Given the description of an element on the screen output the (x, y) to click on. 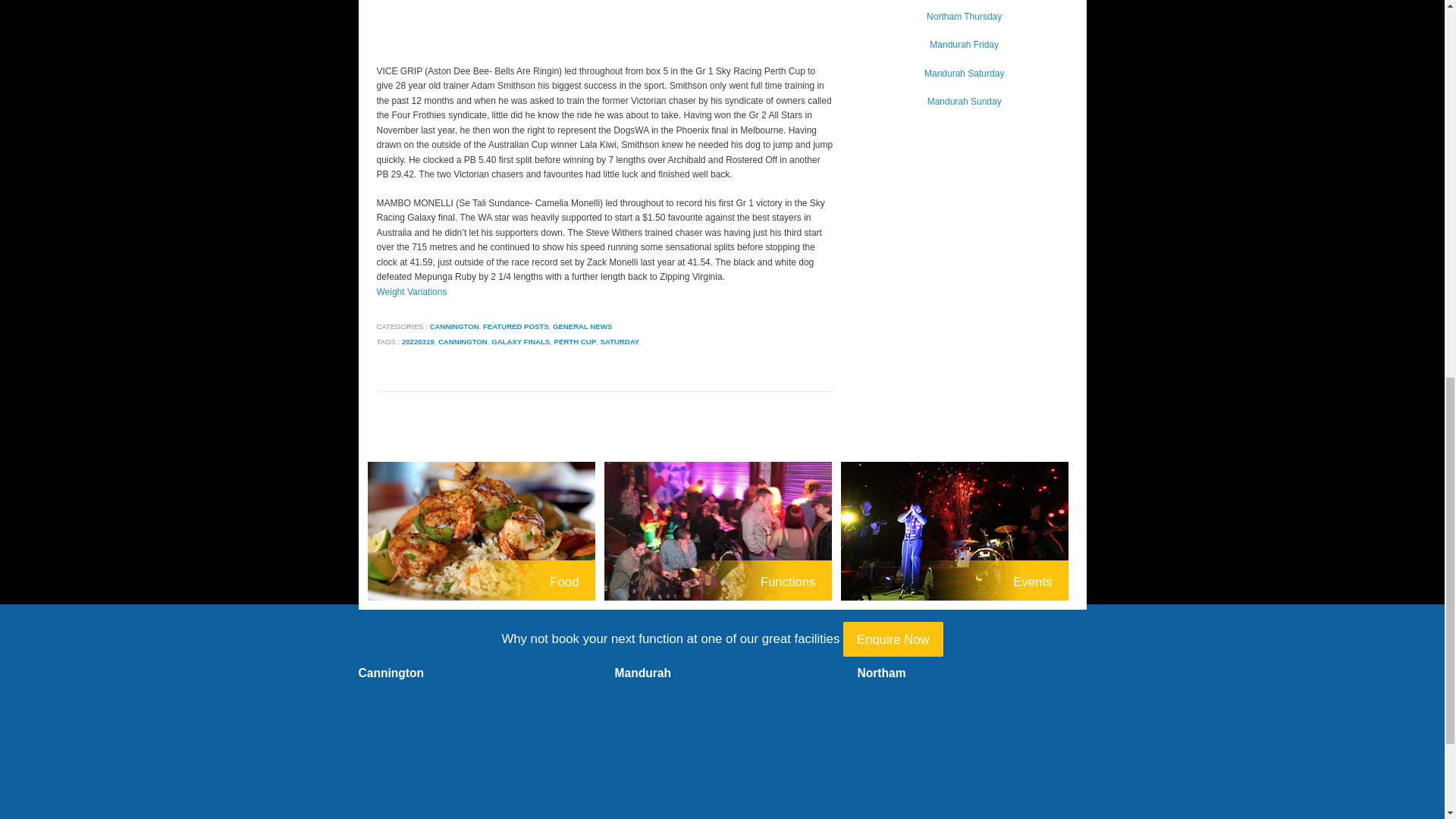
CANNINGTON (454, 326)
FEATURED POSTS (515, 326)
SATURDAY (619, 341)
CANNINGTON (462, 341)
GENERAL NEWS (582, 326)
GALAXY FINALS (521, 341)
Weight Variations (410, 291)
Contact (893, 638)
20220319 (417, 341)
Special Events - Greyhounds WA (958, 532)
